Given the description of an element on the screen output the (x, y) to click on. 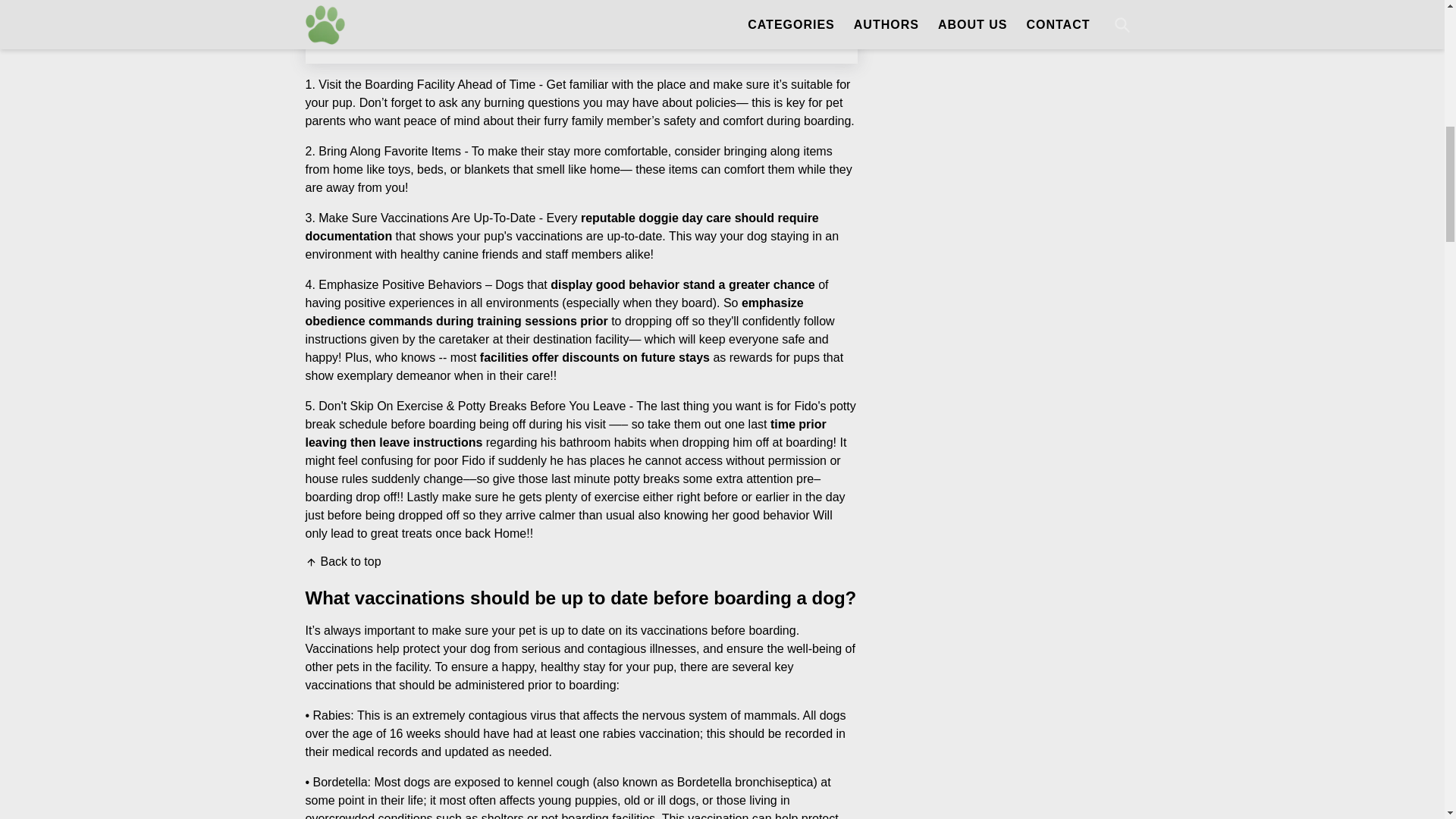
How can I introduce my dog to a kennel ahead of boarding? (507, 29)
Back to top (342, 561)
